Given the description of an element on the screen output the (x, y) to click on. 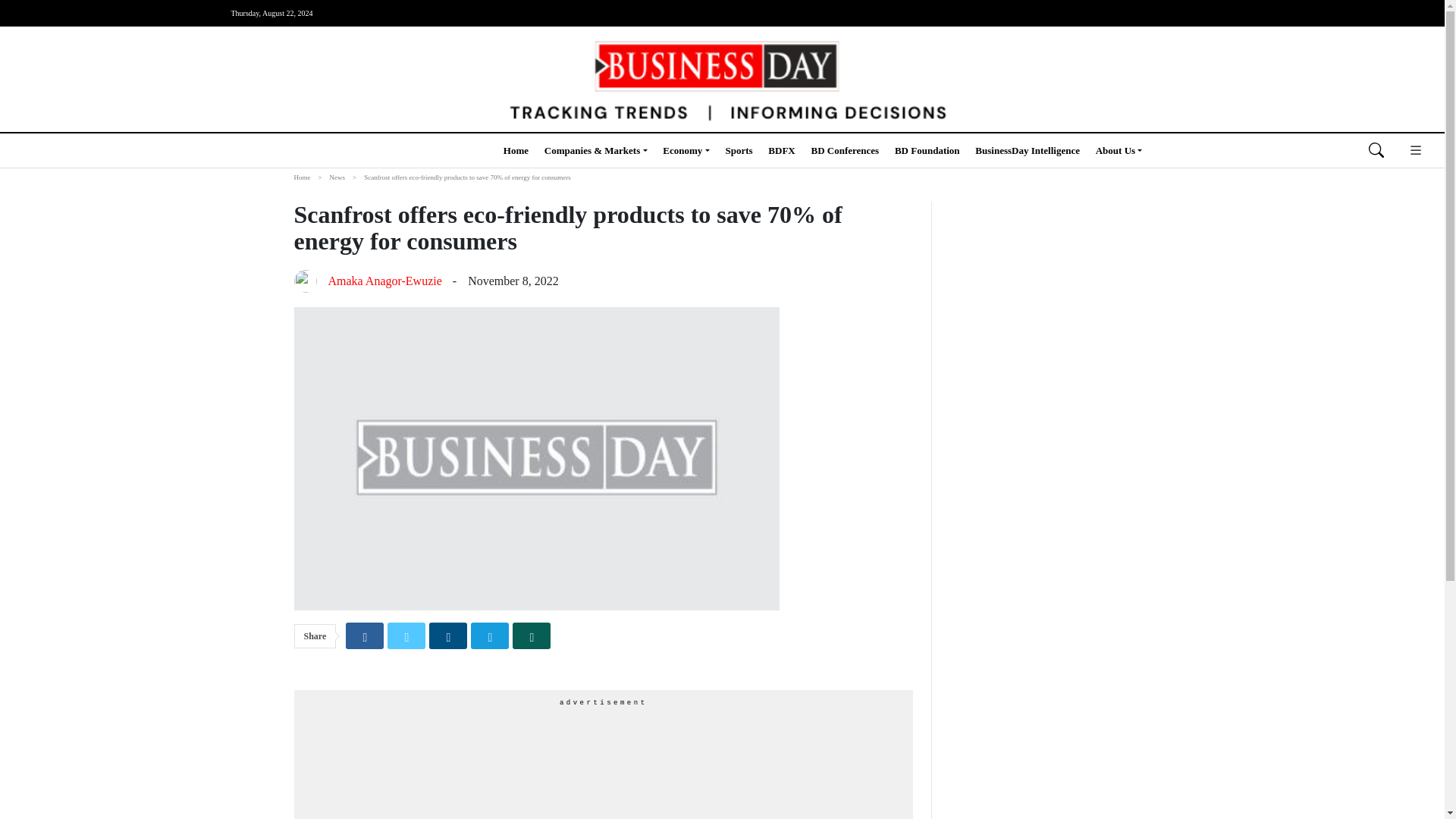
About Us (1119, 149)
BD Conferences (844, 149)
BusinessDay Intelligence (1027, 149)
BD Foundation (927, 149)
BD Conferences (844, 149)
BusinessDay Intelligence (1027, 149)
Economy (685, 149)
About Us (1119, 149)
BD Foundation (927, 149)
Economy (685, 149)
